Given the description of an element on the screen output the (x, y) to click on. 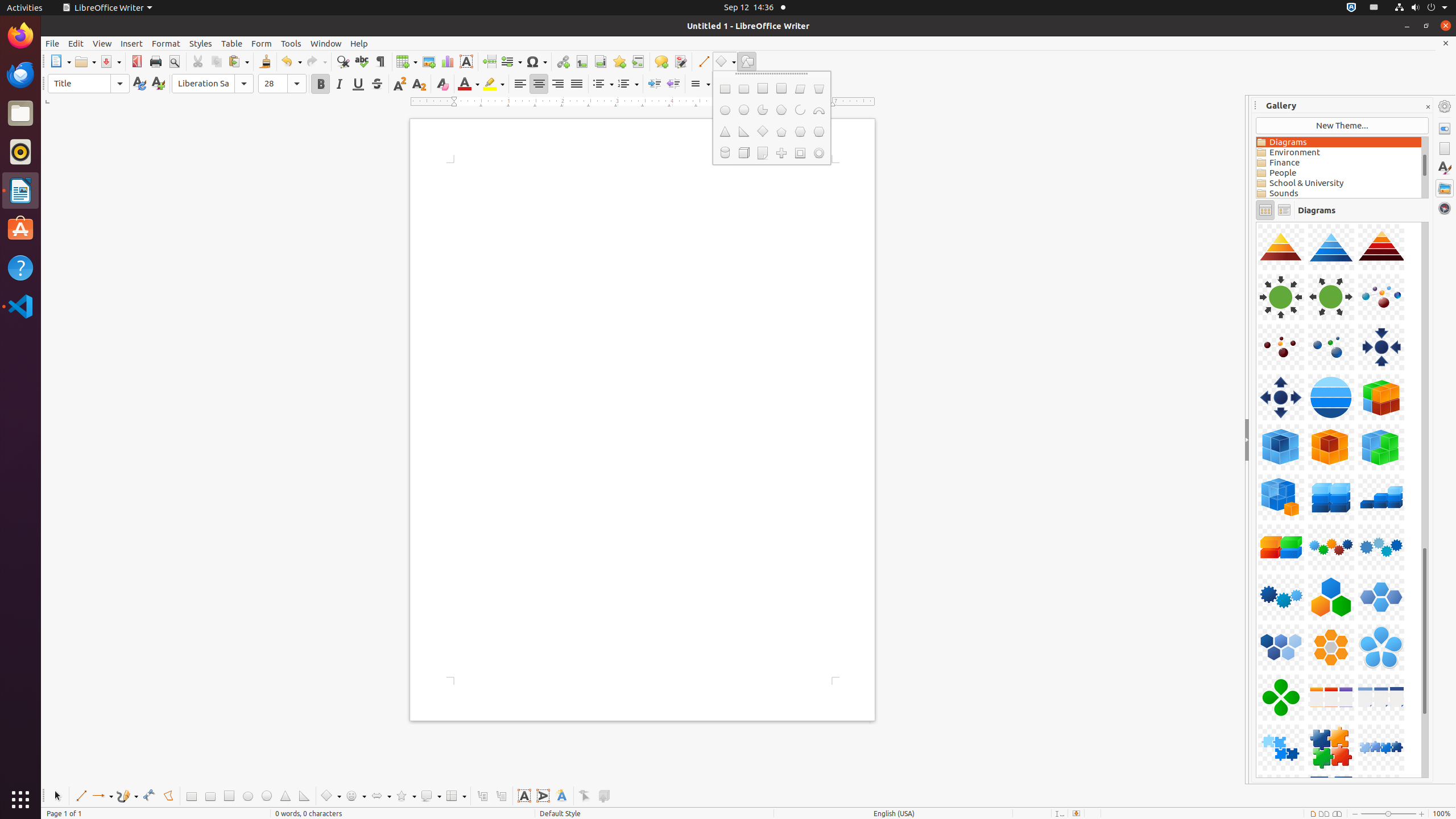
Cross-reference Element type: push-button (637, 61)
Component-Sphere02-LightBlue Element type: list-item (1256, 222)
Arc Element type: toggle-button (799, 110)
Select Element type: push-button (56, 795)
Component-Gear01-DarkBlue Element type: list-item (1256, 222)
